Given the description of an element on the screen output the (x, y) to click on. 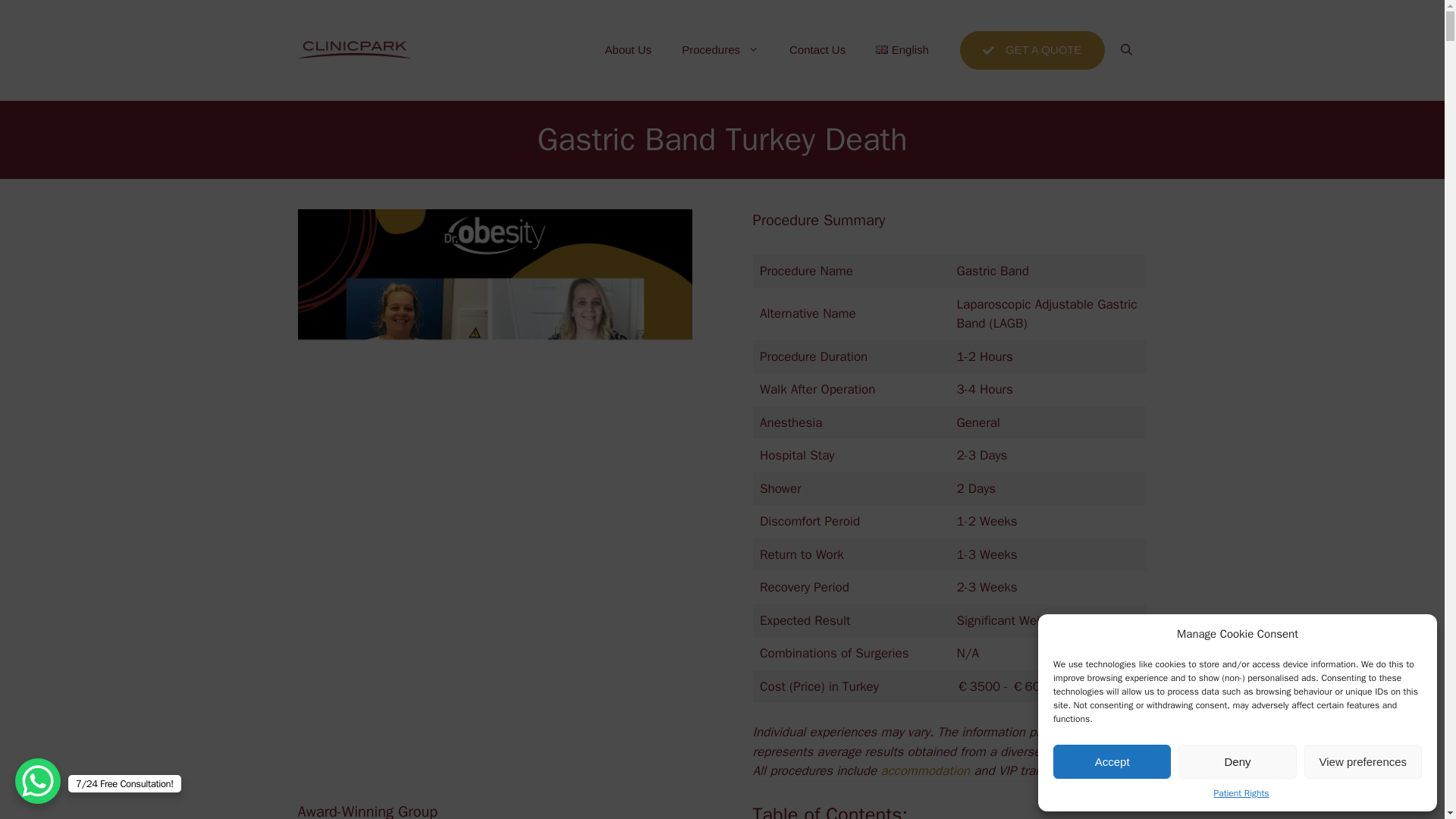
About Us (627, 49)
Deny (1236, 761)
Procedures (720, 49)
accommodation (924, 770)
Accept (1111, 761)
GET A QUOTE (1032, 50)
View preferences (1363, 761)
Contact Us (817, 49)
English (901, 49)
